Given the description of an element on the screen output the (x, y) to click on. 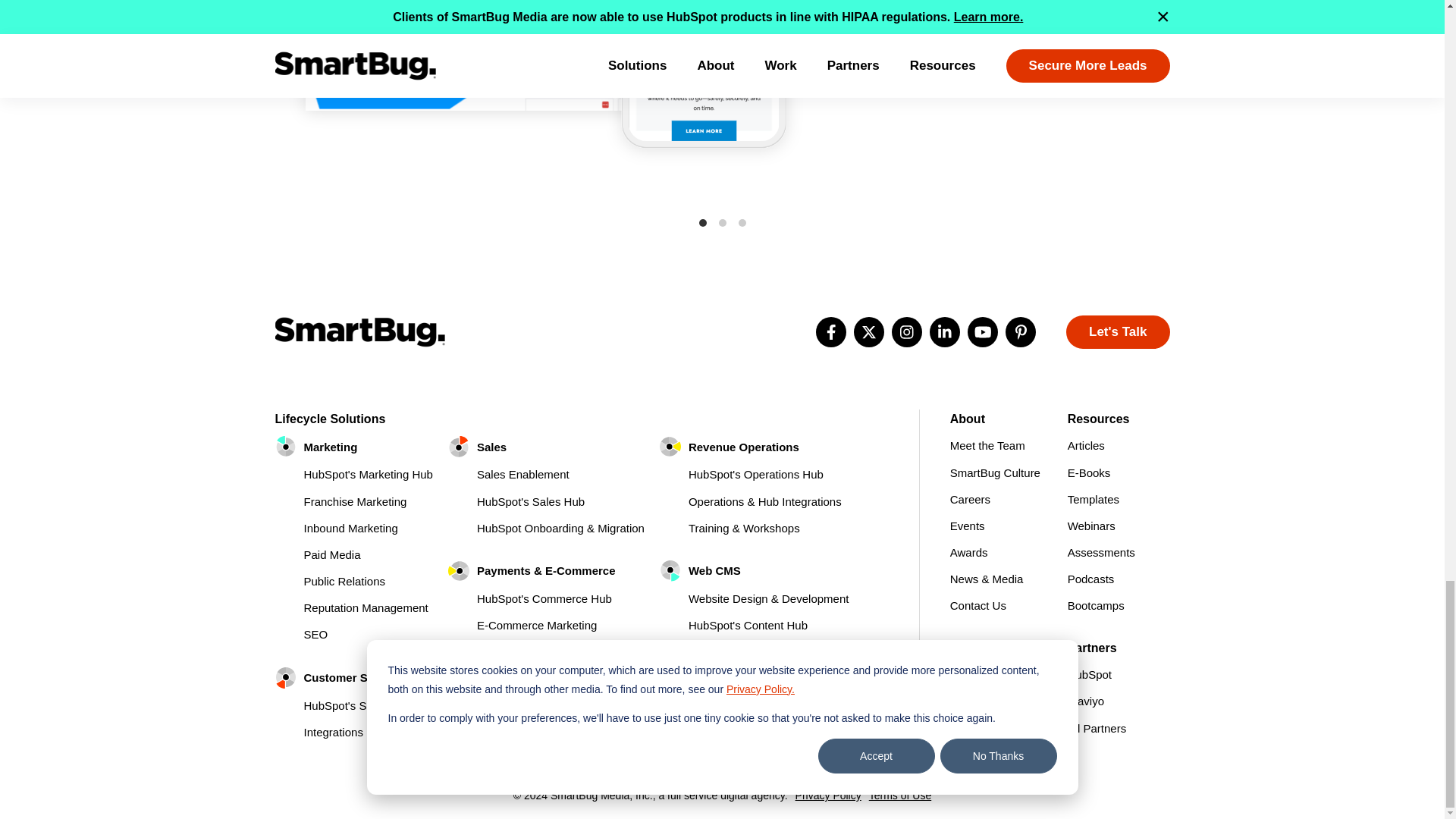
Let's Talk (1117, 331)
